Given the description of an element on the screen output the (x, y) to click on. 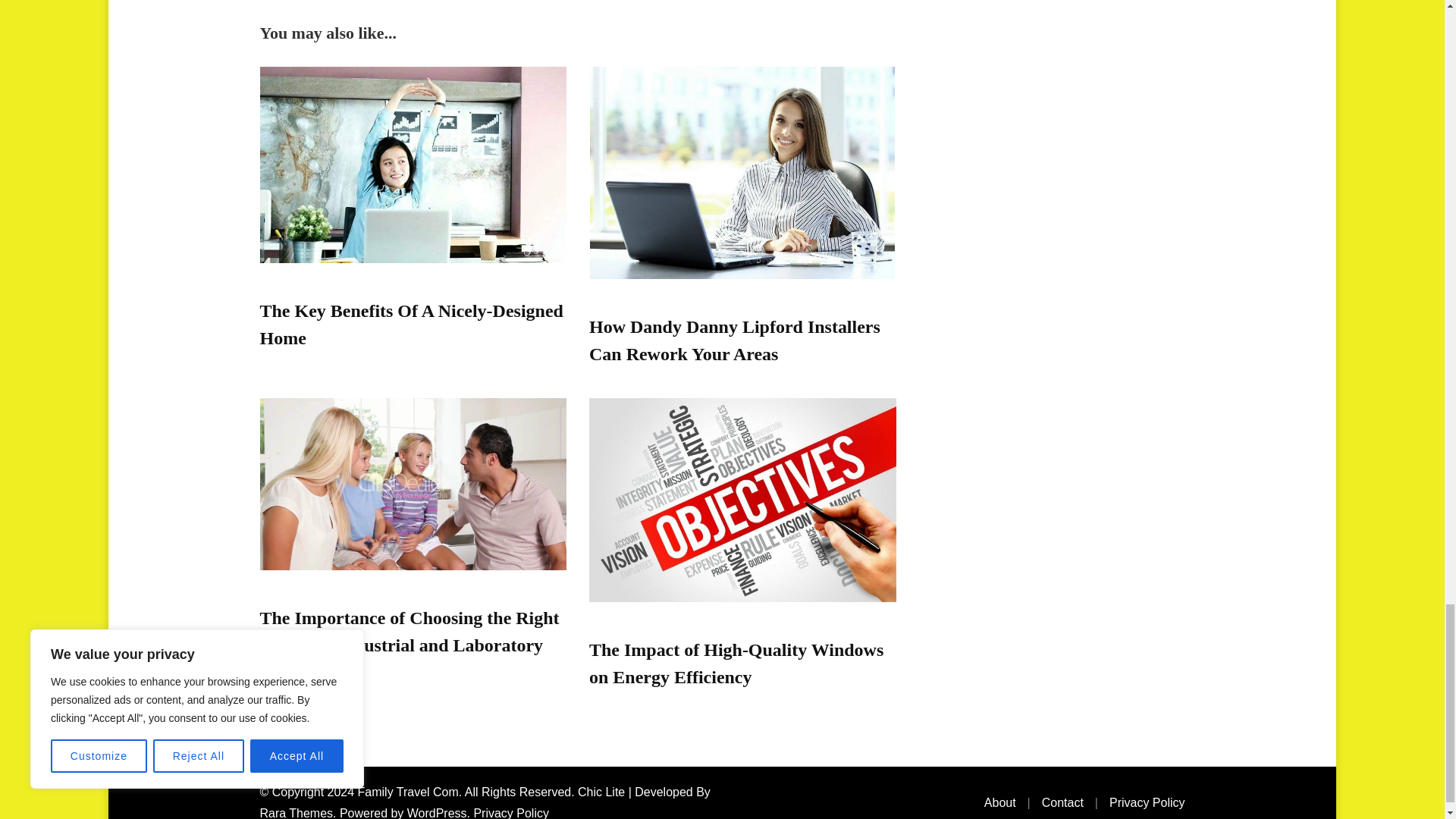
The Key Benefits Of A Nicely-Designed Home (410, 324)
